Given the description of an element on the screen output the (x, y) to click on. 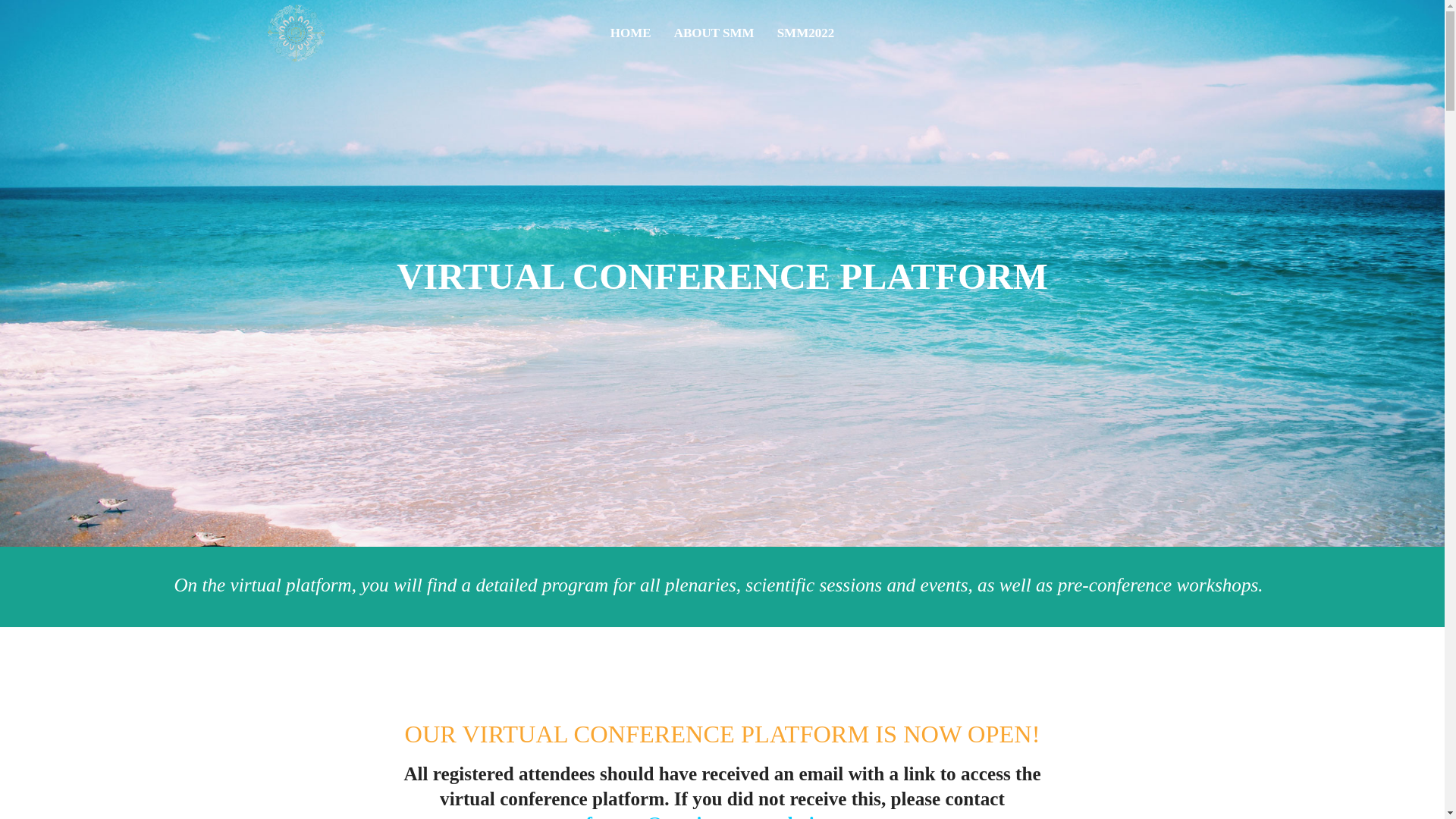
ABOUT SMM (713, 33)
HOME (630, 33)
SMM2022 (805, 33)
